Given the description of an element on the screen output the (x, y) to click on. 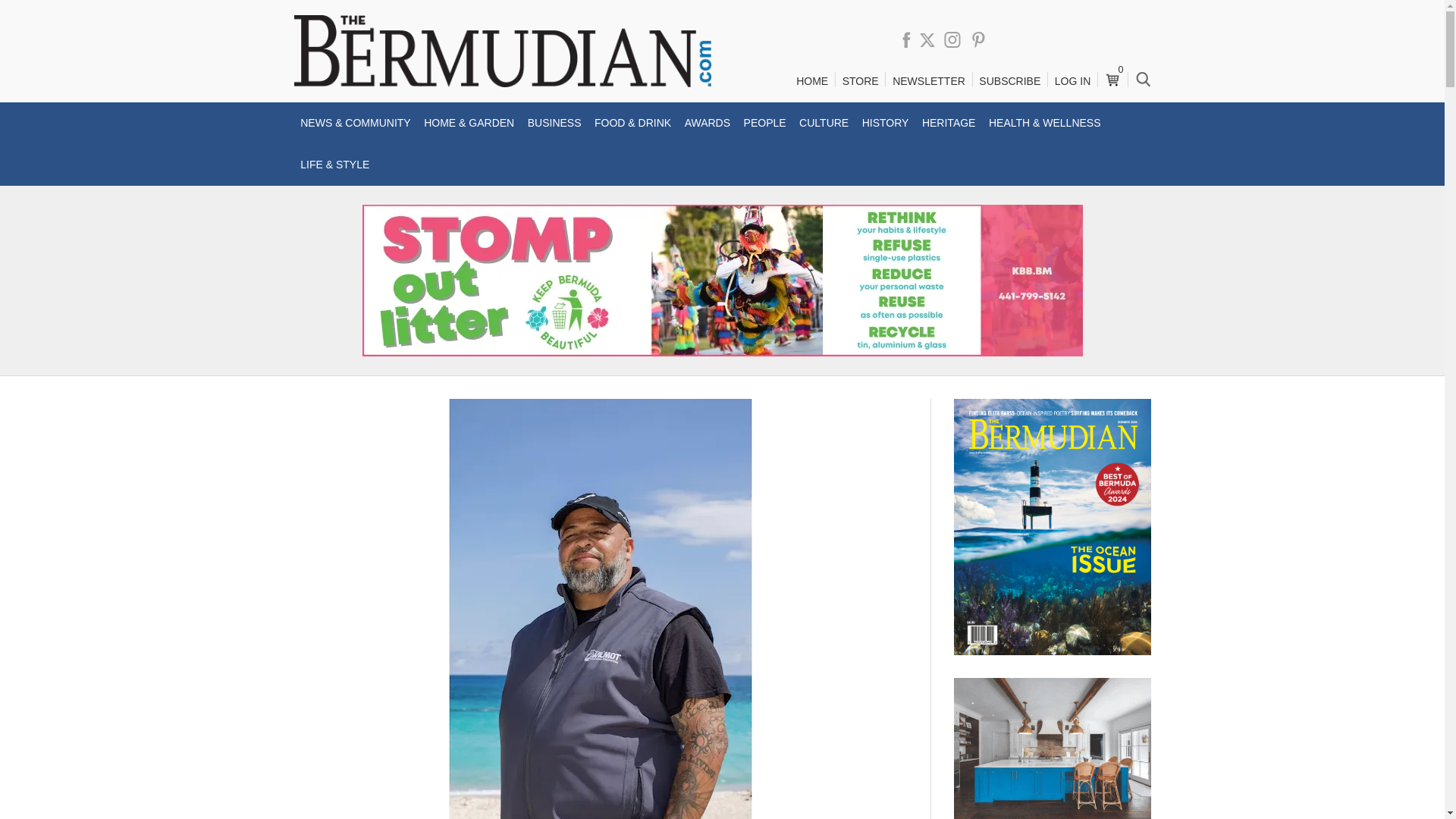
HERITAGE (948, 123)
LOG IN (1072, 81)
HOME (811, 81)
CULTURE (824, 123)
SUBSCRIBE (1009, 81)
AWARDS (707, 123)
PEOPLE (764, 123)
0 (1111, 75)
NEWSLETTER (928, 81)
STORE (860, 81)
